Given the description of an element on the screen output the (x, y) to click on. 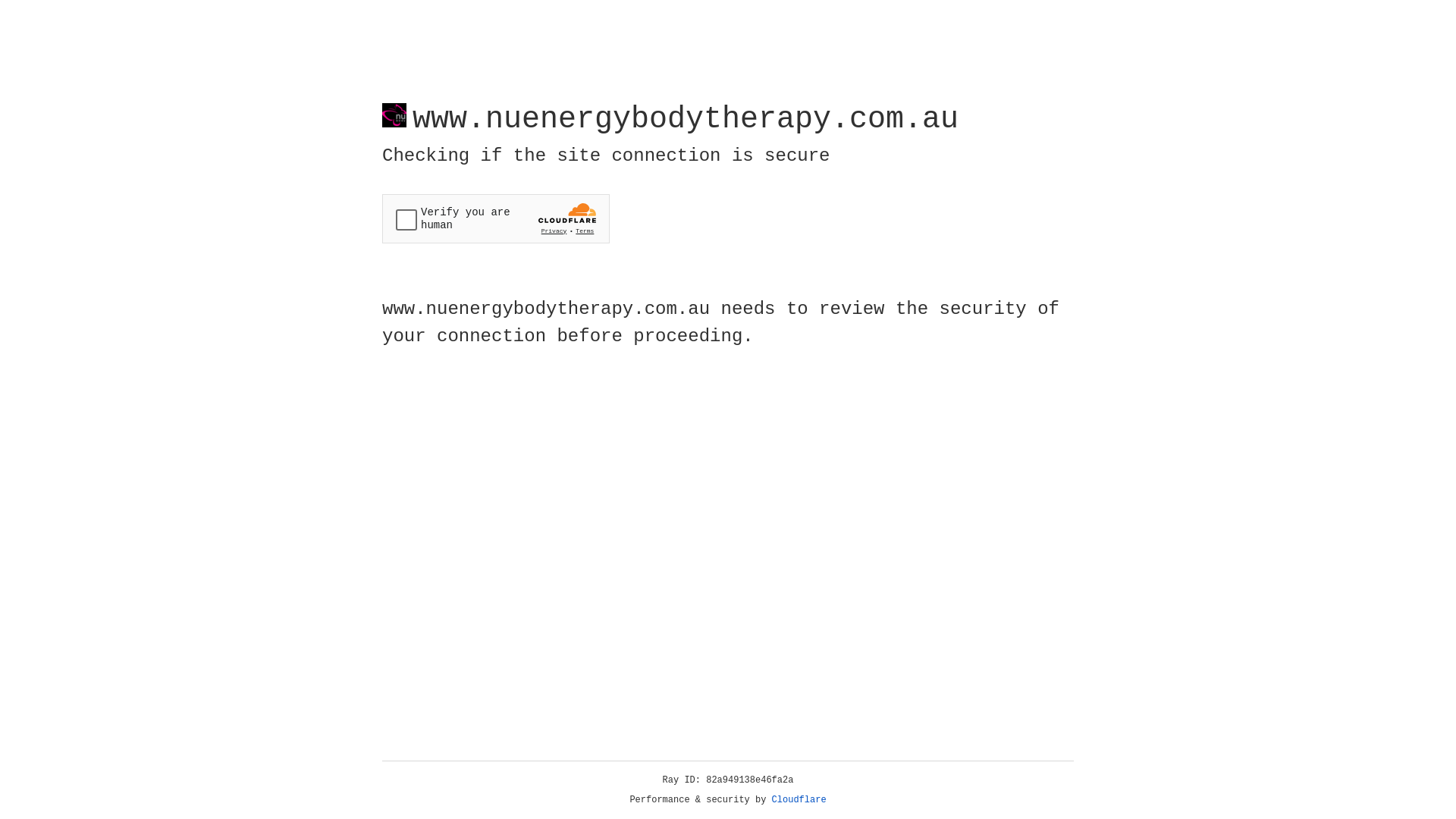
Cloudflare Element type: text (798, 799)
Widget containing a Cloudflare security challenge Element type: hover (495, 218)
